Given the description of an element on the screen output the (x, y) to click on. 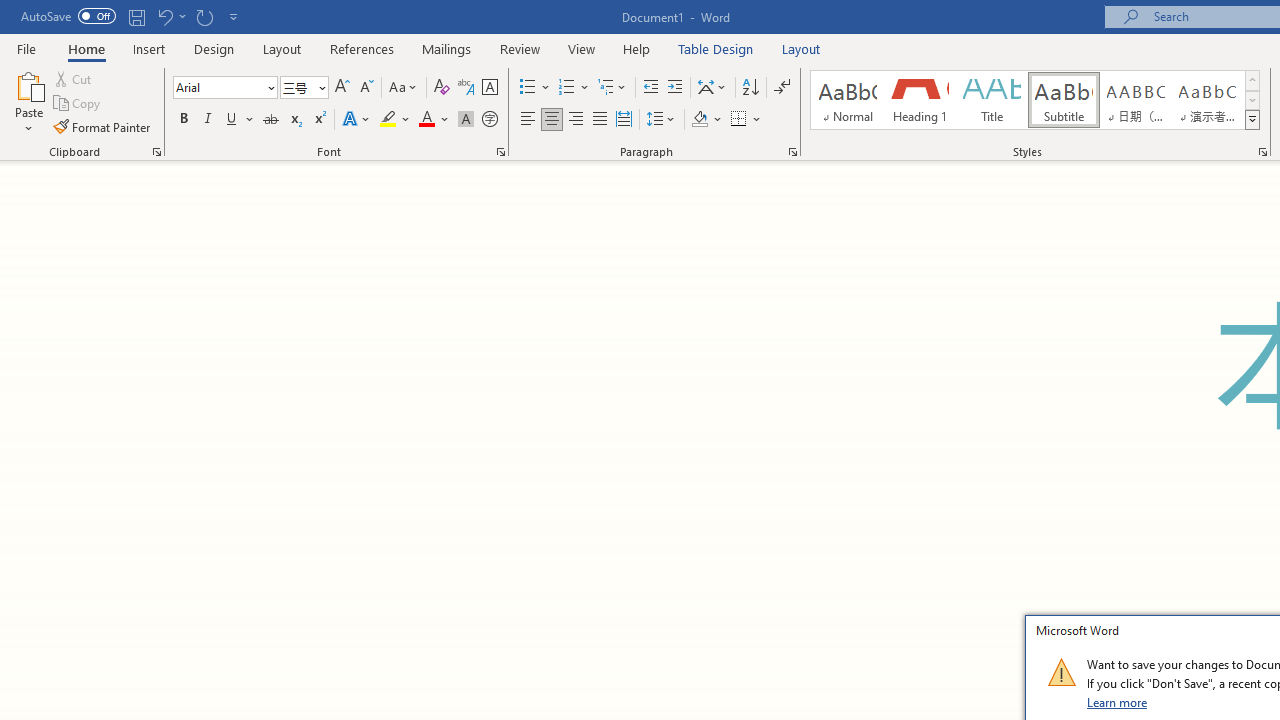
Character Shading (465, 119)
Class: NetUIImage (1061, 671)
Underline (232, 119)
Cut (73, 78)
Character Border (489, 87)
Office Clipboard... (156, 151)
Paragraph... (792, 151)
Borders (746, 119)
AutomationID: QuickStylesGallery (1035, 99)
Undo Paste (170, 15)
Row Down (1252, 100)
Line and Paragraph Spacing (661, 119)
Learn more (1118, 702)
